Given the description of an element on the screen output the (x, y) to click on. 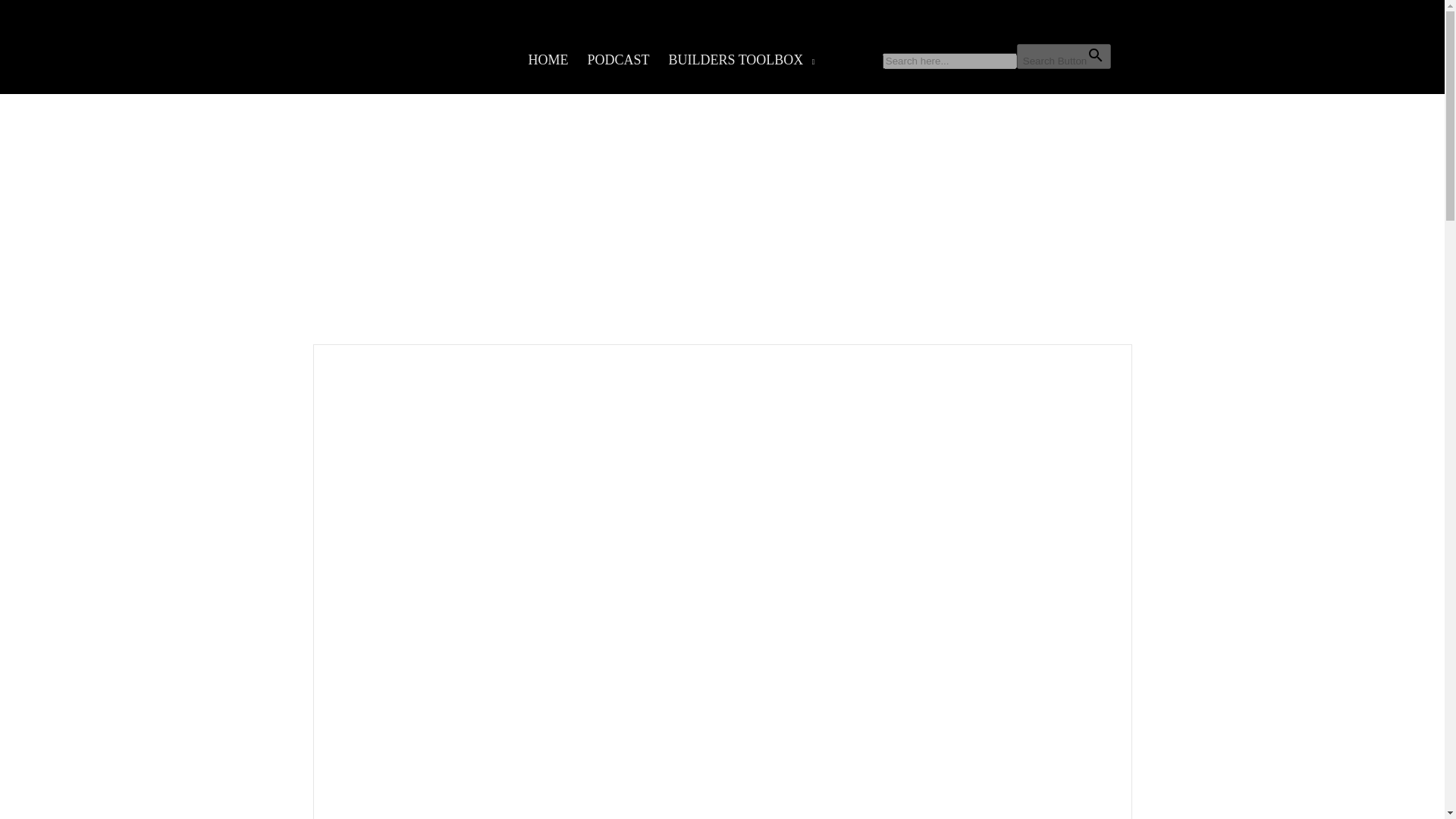
PODCAST (617, 59)
Search Button (1063, 56)
BUILDERS TOOLBOX (735, 59)
HOME (547, 59)
